Given the description of an element on the screen output the (x, y) to click on. 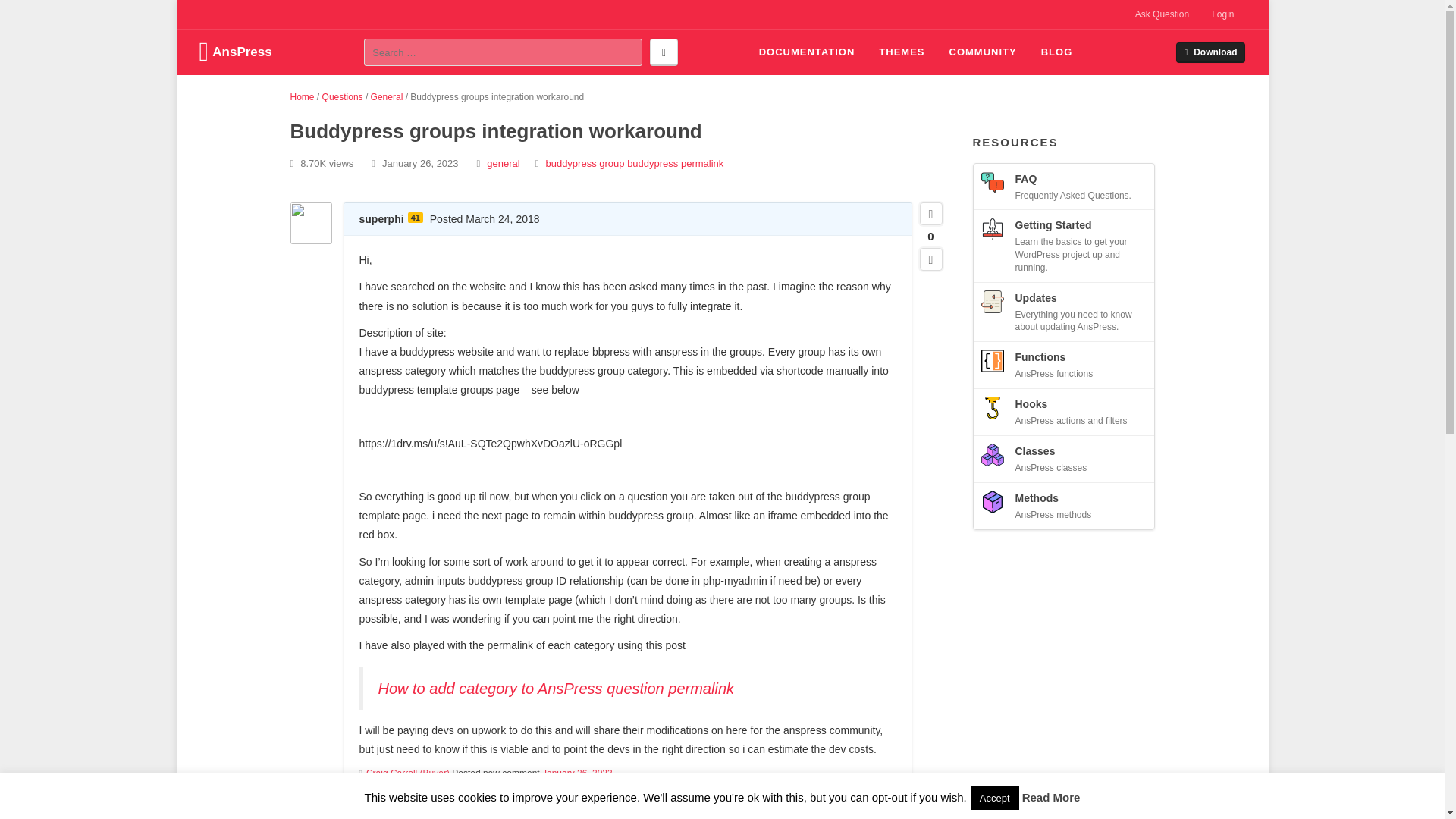
41 (415, 217)
Down vote this post (930, 259)
General question and answer (502, 163)
January 26, 2023 (576, 773)
Questions (341, 96)
Up vote this post (930, 213)
general (502, 163)
How to add category to AnsPress question permalink (555, 688)
Ask Question (1161, 14)
DOCUMENTATION (807, 52)
COMMUNITY (982, 52)
Posted March 24, 2018 (484, 218)
superphi (381, 218)
General (387, 96)
Paul O'Brien (400, 814)
